Given the description of an element on the screen output the (x, y) to click on. 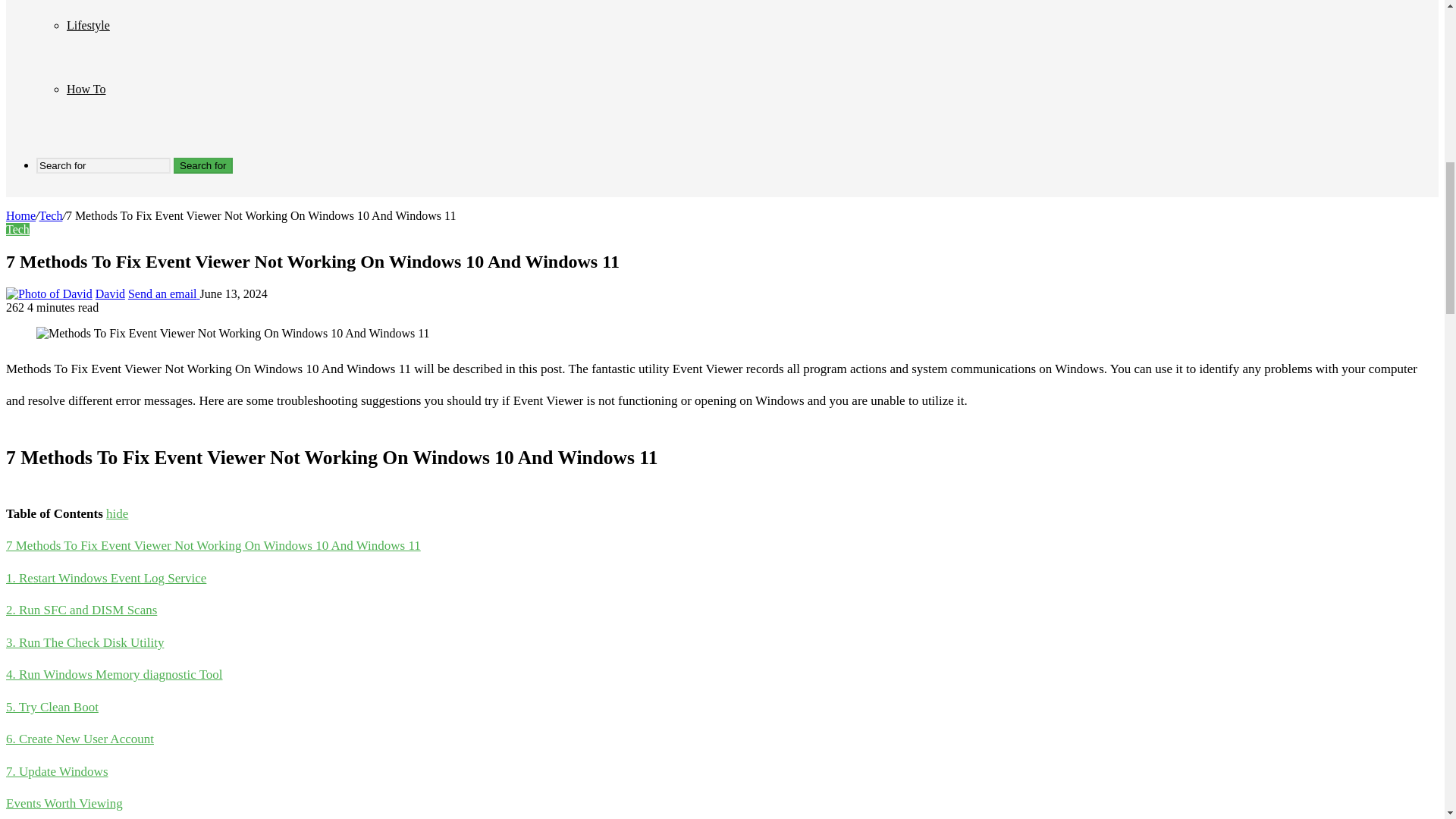
Search for (103, 165)
David (110, 293)
Send an email (164, 293)
Tech (17, 228)
Send an email (164, 293)
Tech (50, 215)
7. Update Windows (56, 771)
Lifestyle (88, 24)
David (110, 293)
Events Worth Viewing (63, 803)
Home (19, 215)
6. Create New User Account (79, 739)
1. Restart Windows Event Log Service (105, 577)
Search for (202, 165)
